Given the description of an element on the screen output the (x, y) to click on. 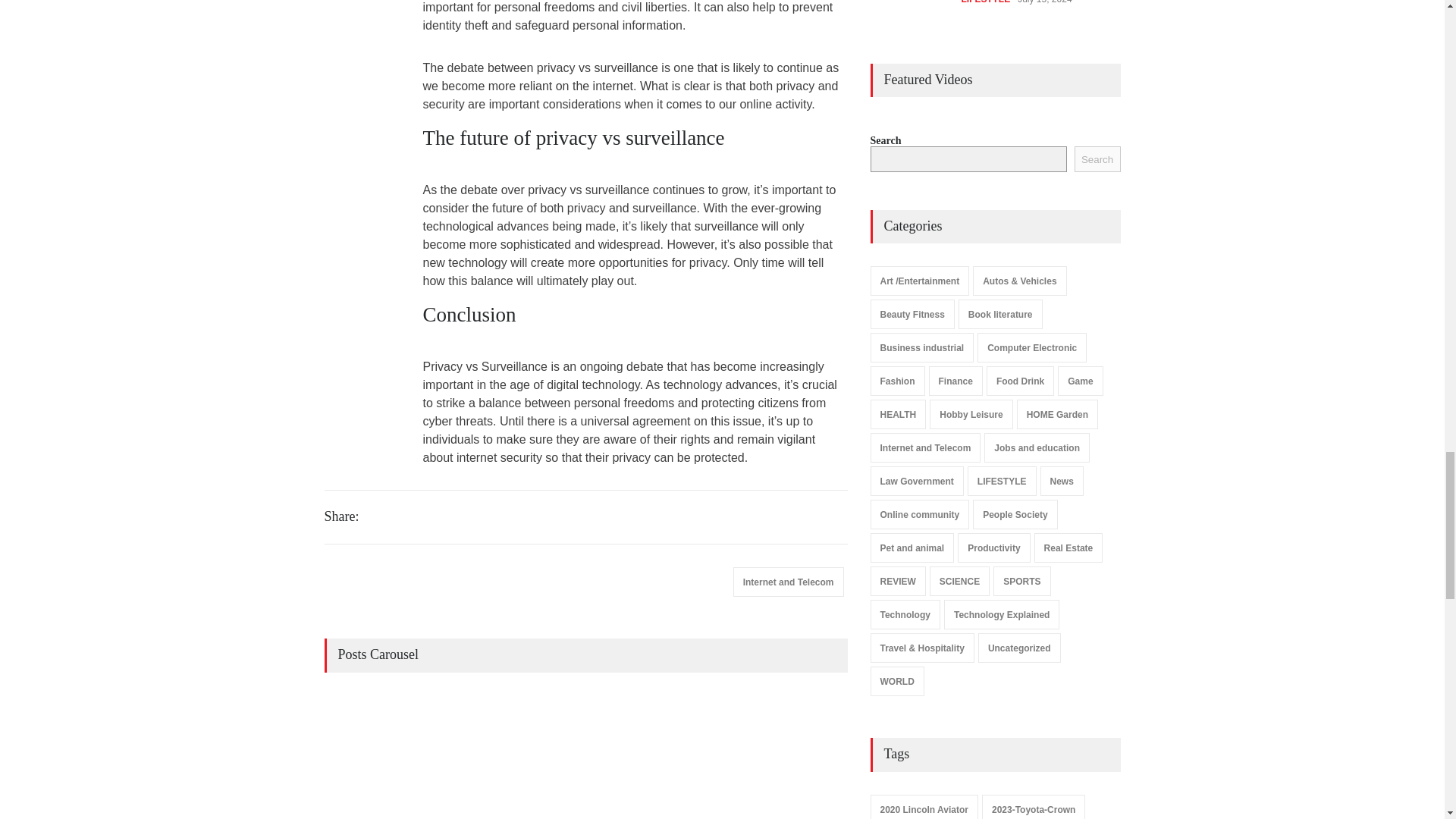
Internet and Telecom (788, 582)
